Given the description of an element on the screen output the (x, y) to click on. 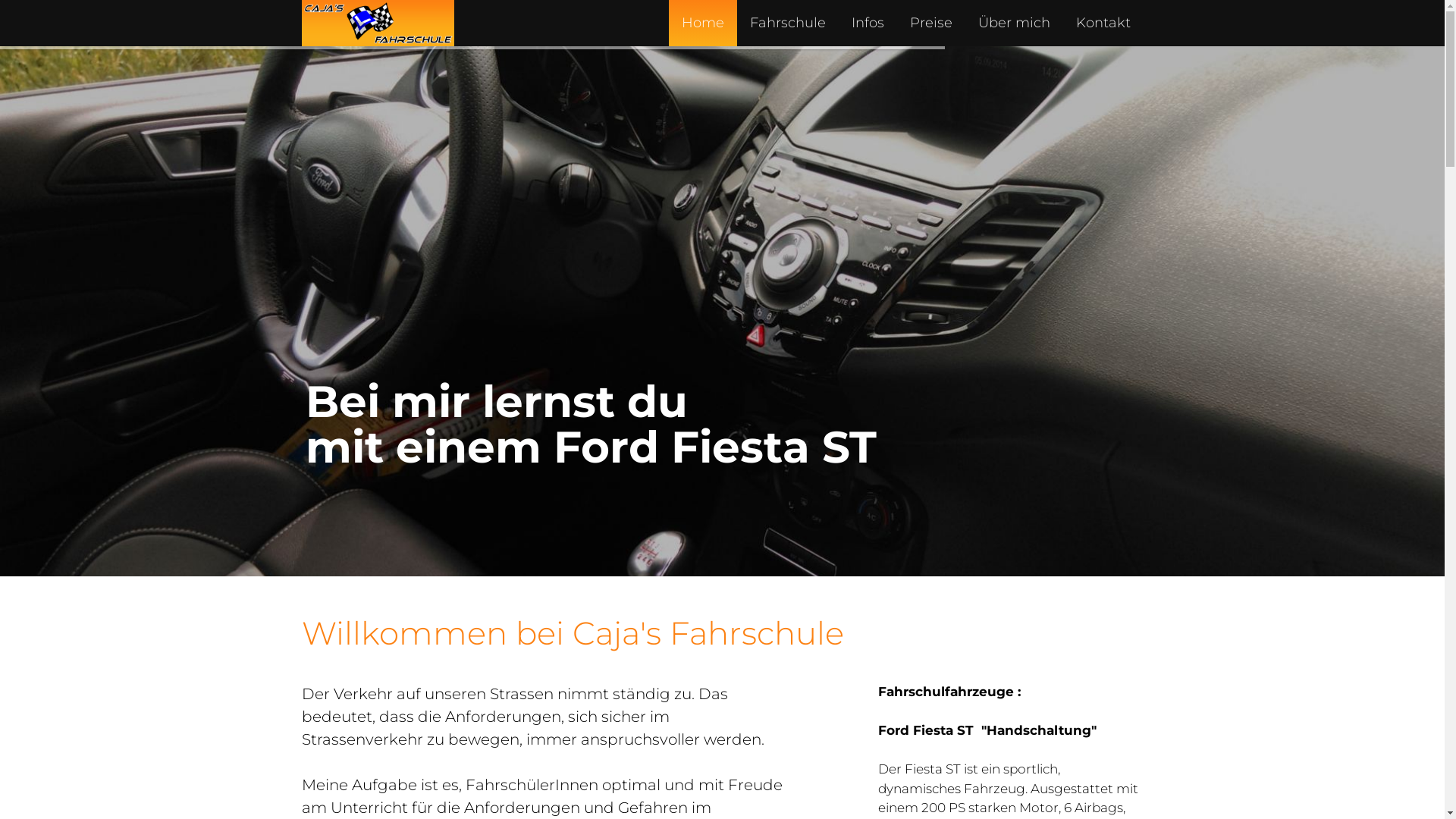
Home Element type: text (702, 23)
Fahrschule Element type: text (787, 23)
Preise Element type: text (930, 23)
Infos Element type: text (867, 23)
Kontakt Element type: text (1103, 23)
